Given the description of an element on the screen output the (x, y) to click on. 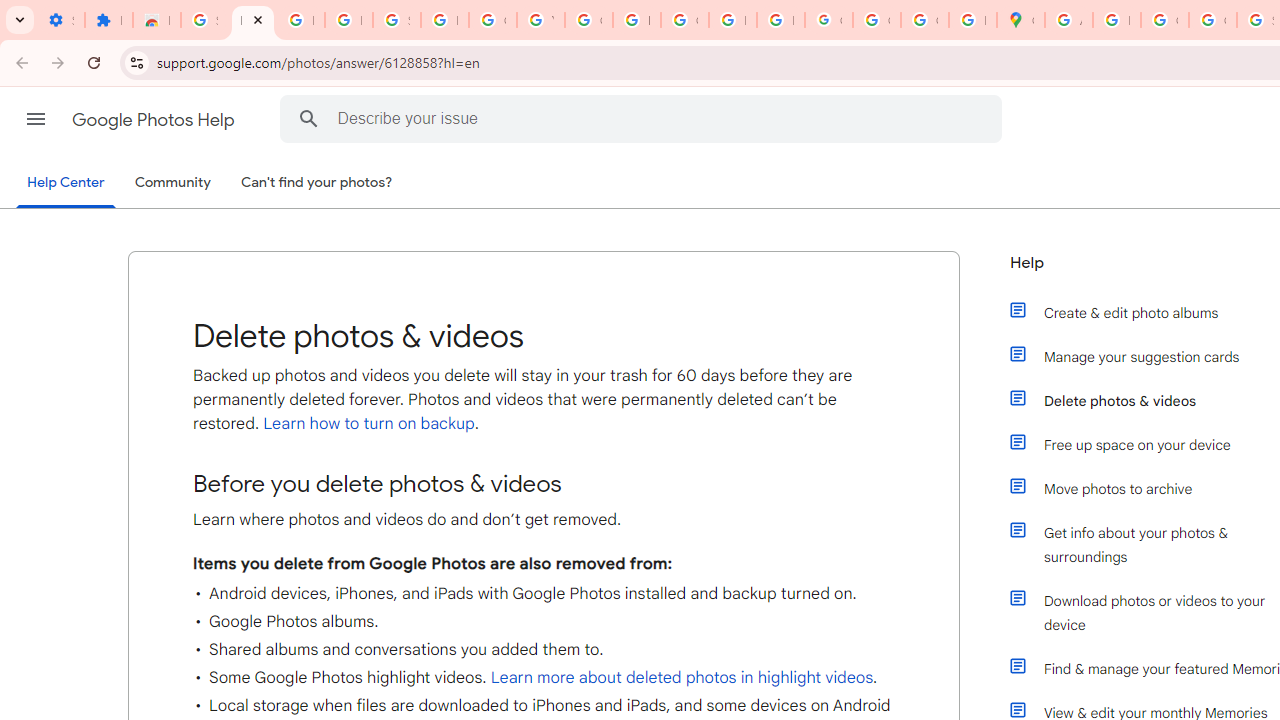
 Learn how to turn on backup (366, 423)
Help Center (65, 183)
Learn more about deleted photos in highlight videos (682, 678)
Google Account (492, 20)
